Given the description of an element on the screen output the (x, y) to click on. 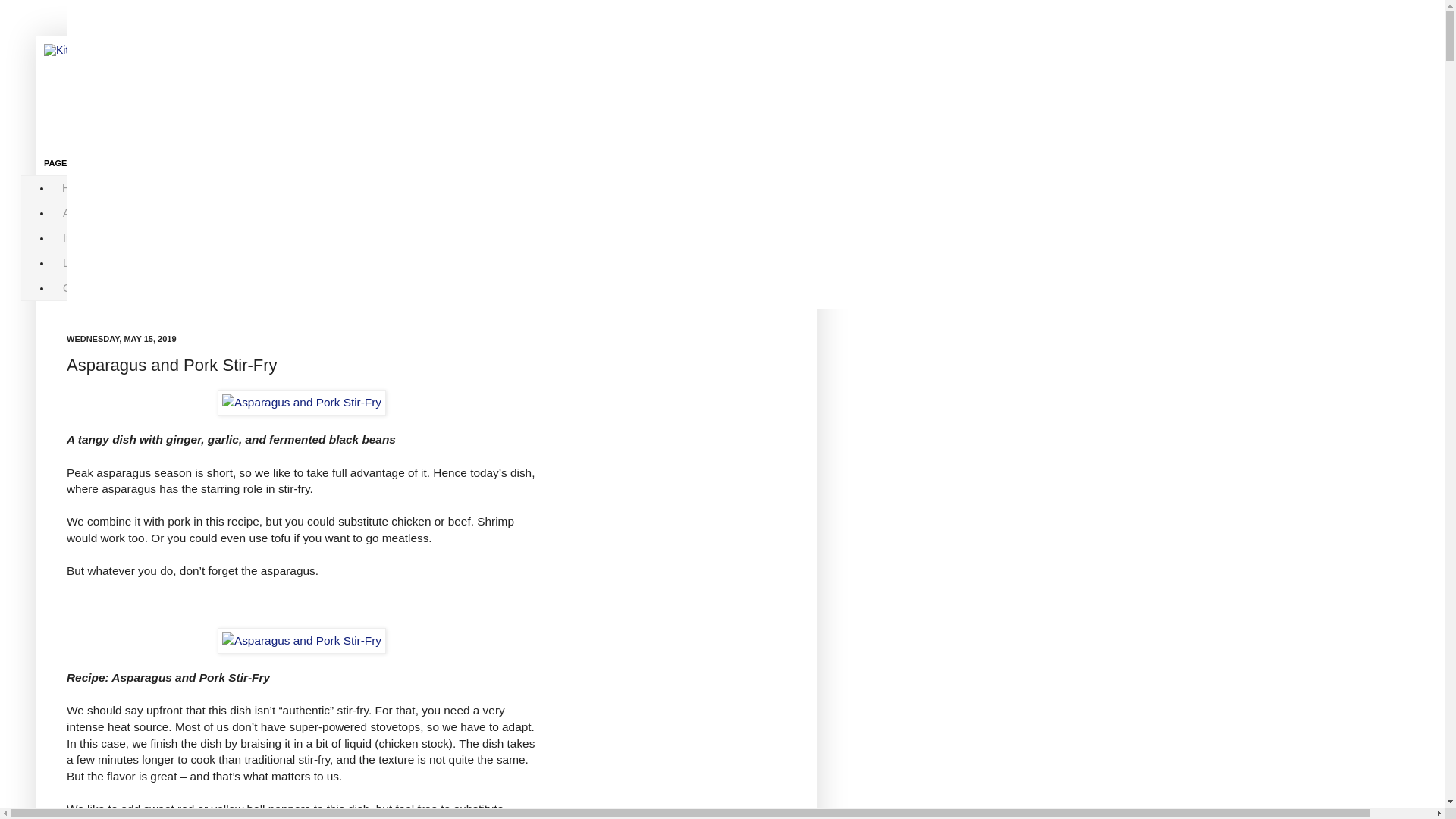
About (75, 213)
Links (74, 262)
Contact (80, 287)
Asparagus and Pork Stir-Fry (300, 640)
Index (75, 238)
Asparagus and Pork Stir-Fry (300, 402)
Home (75, 188)
